Given the description of an element on the screen output the (x, y) to click on. 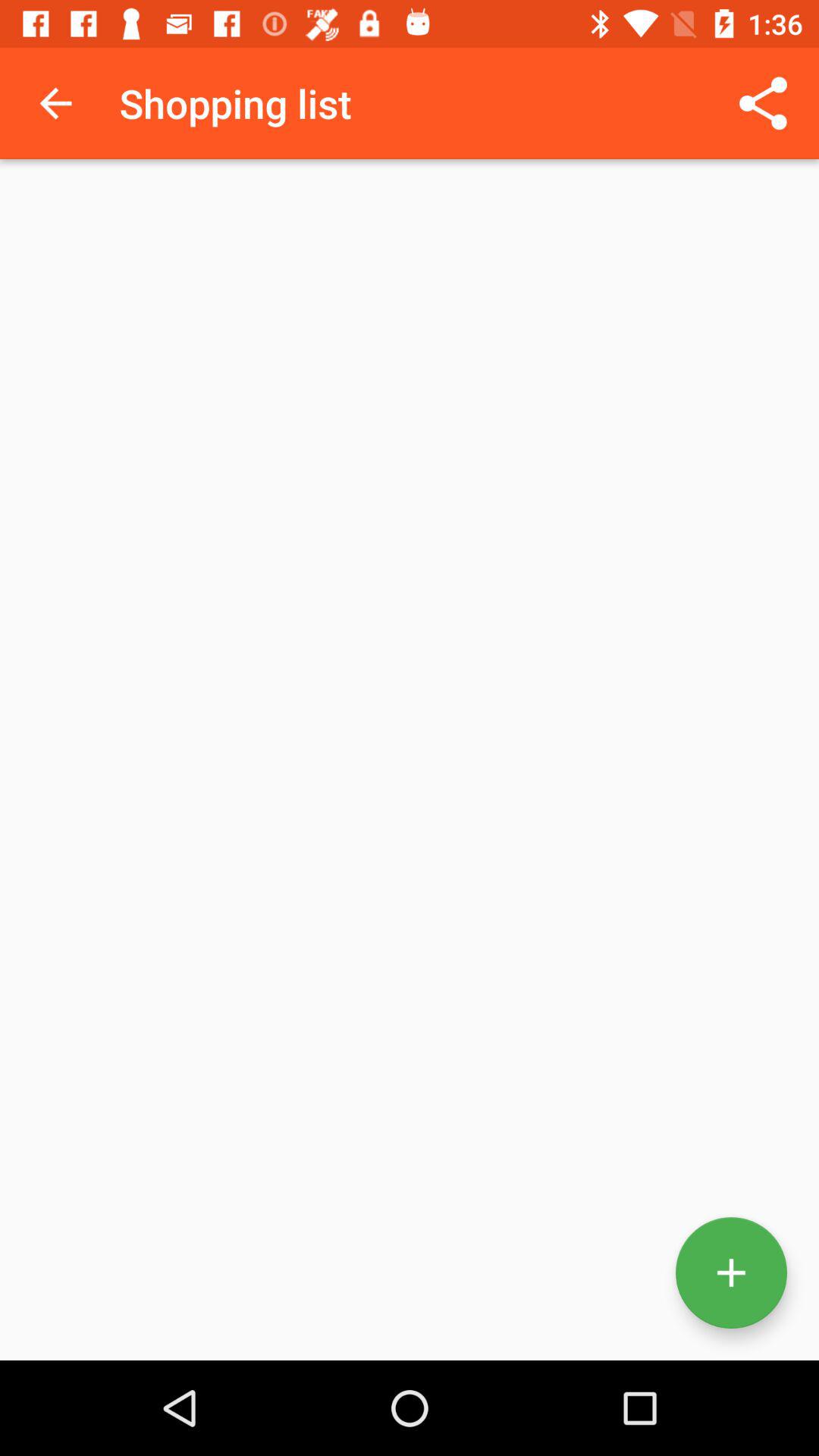
click item next to the shopping list item (763, 103)
